Given the description of an element on the screen output the (x, y) to click on. 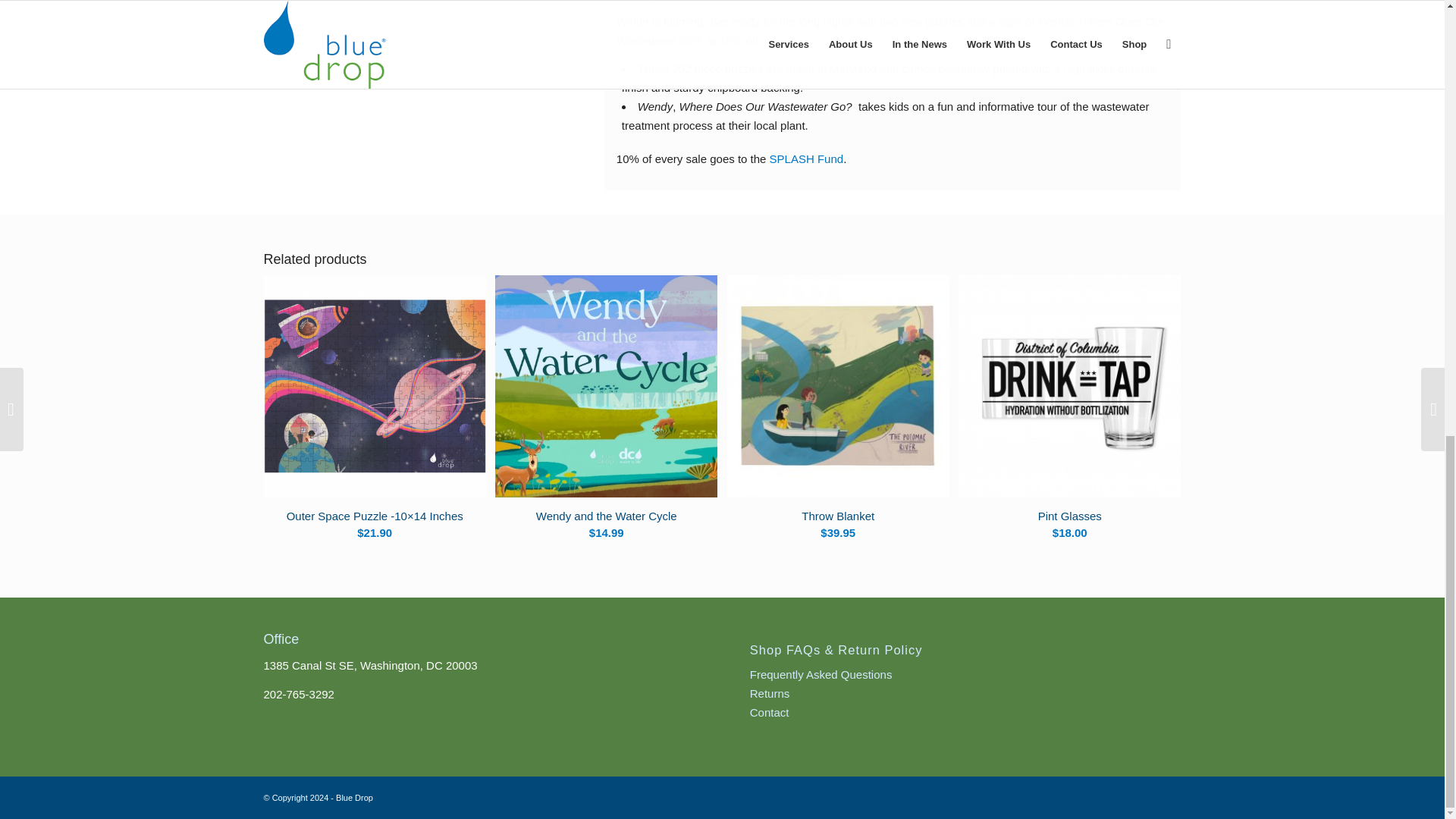
SPLASH Fund (807, 158)
Frequently Asked Questions (820, 674)
